Given the description of an element on the screen output the (x, y) to click on. 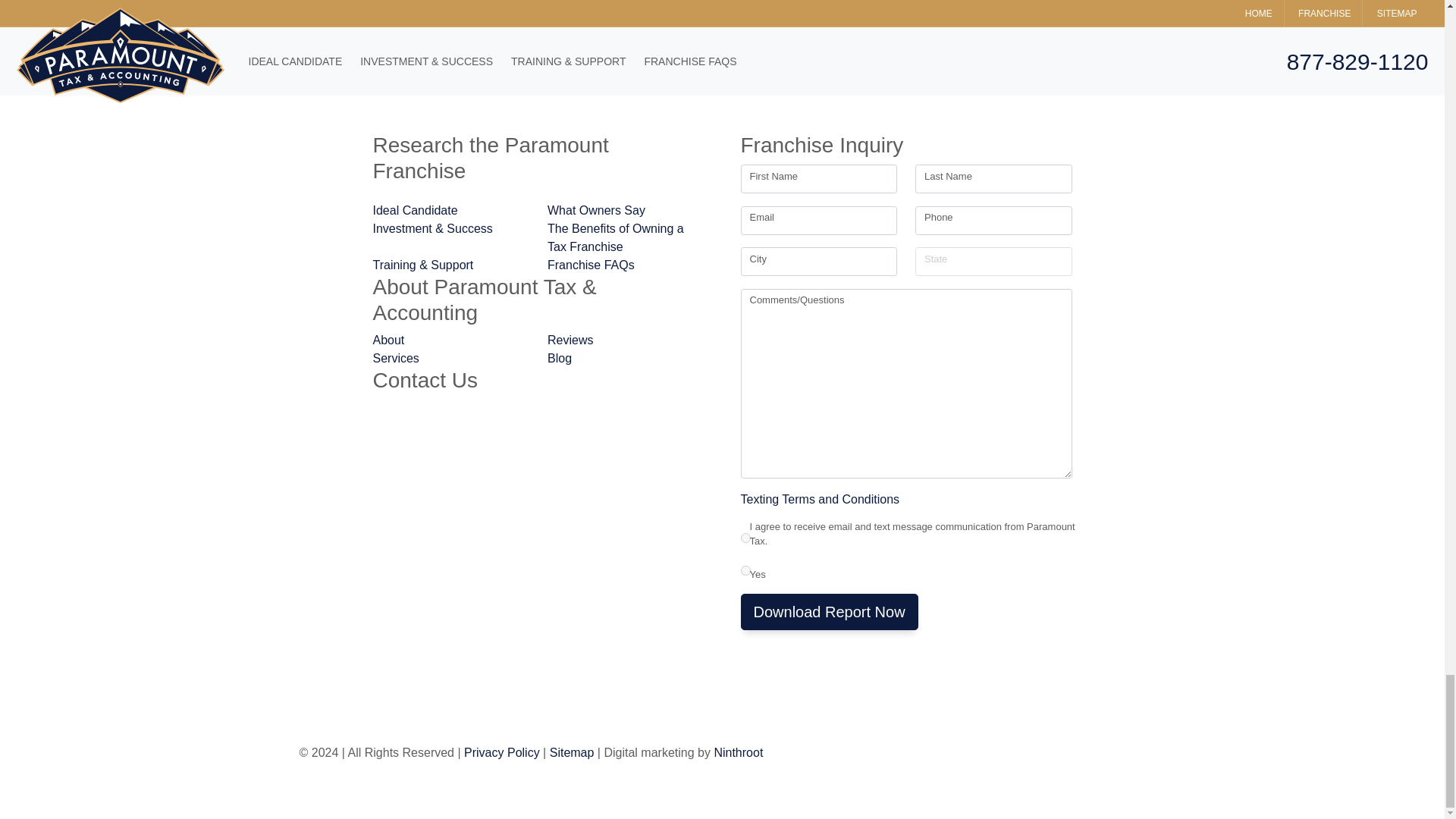
Last Name (993, 178)
no (744, 570)
Ideal Candidate (451, 210)
Blog (625, 358)
Email (817, 220)
Services (451, 358)
What Owners Say (625, 210)
yes (744, 537)
The Benefits of Owning a Tax Franchise (625, 238)
Reviews (625, 340)
City (817, 261)
State (993, 261)
First Name (817, 178)
Phone (993, 220)
Franchise FAQs (625, 265)
